Given the description of an element on the screen output the (x, y) to click on. 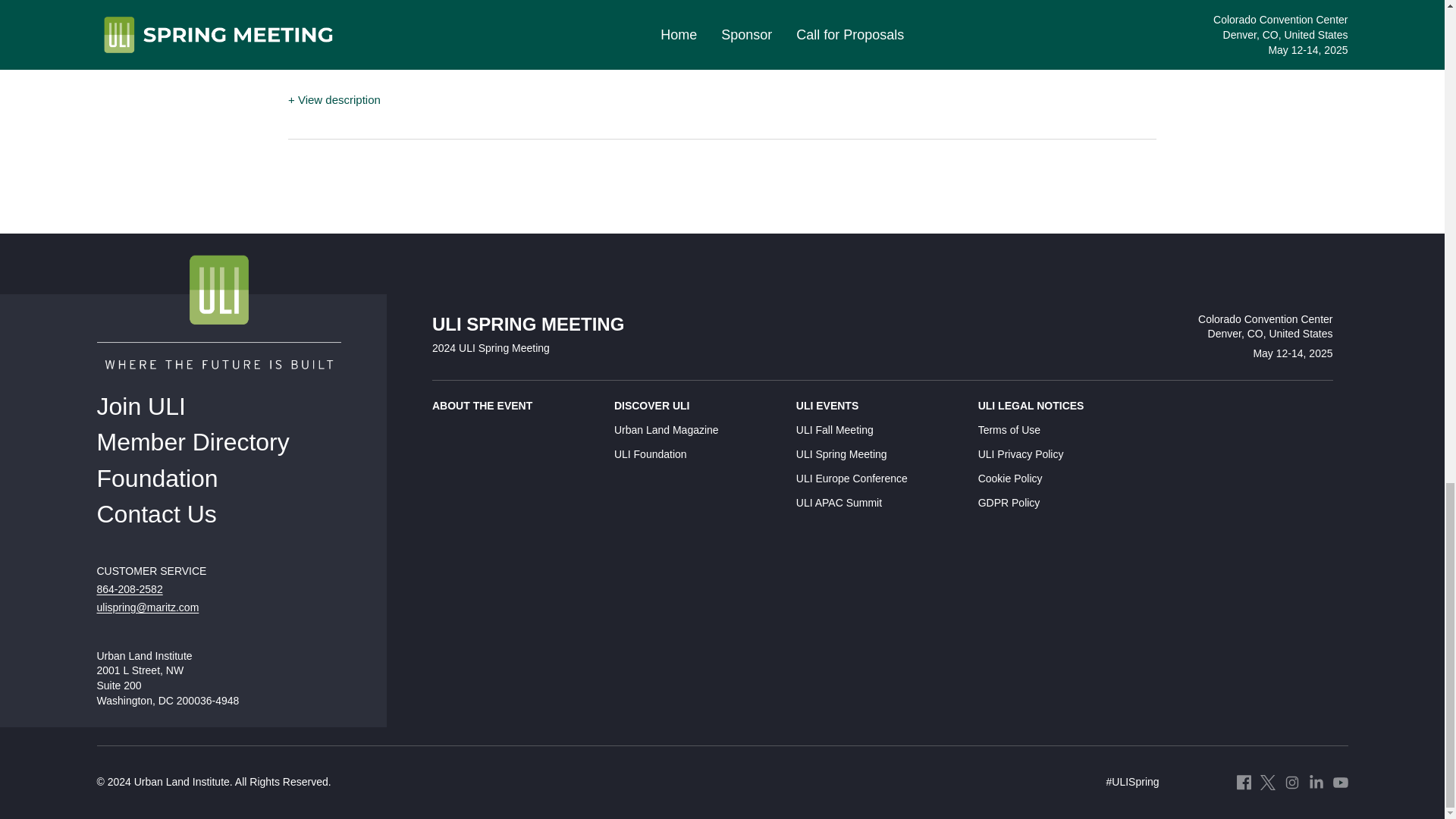
Ms. Jessica Matthews, Uncharted (409, 29)
Open to All Attendees (459, 61)
Join ULI (141, 405)
Foundation (157, 478)
ULI Fall Meeting (877, 430)
Urban Land Magazine (695, 430)
ULI Foundation (695, 454)
ULI EVENTS (877, 406)
Contact Us (156, 513)
864-208-2582 (130, 589)
